Given the description of an element on the screen output the (x, y) to click on. 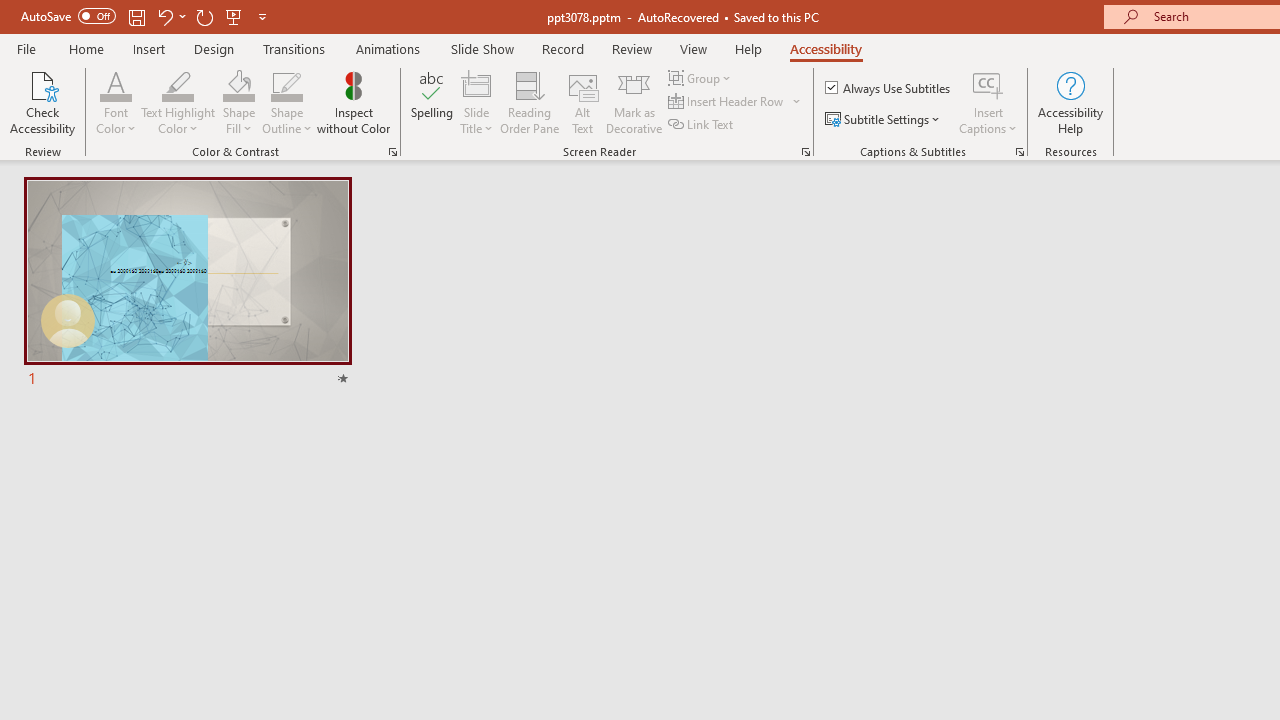
Subtitle Settings (884, 119)
Mark as Decorative (634, 102)
Link Text (702, 124)
